Given the description of an element on the screen output the (x, y) to click on. 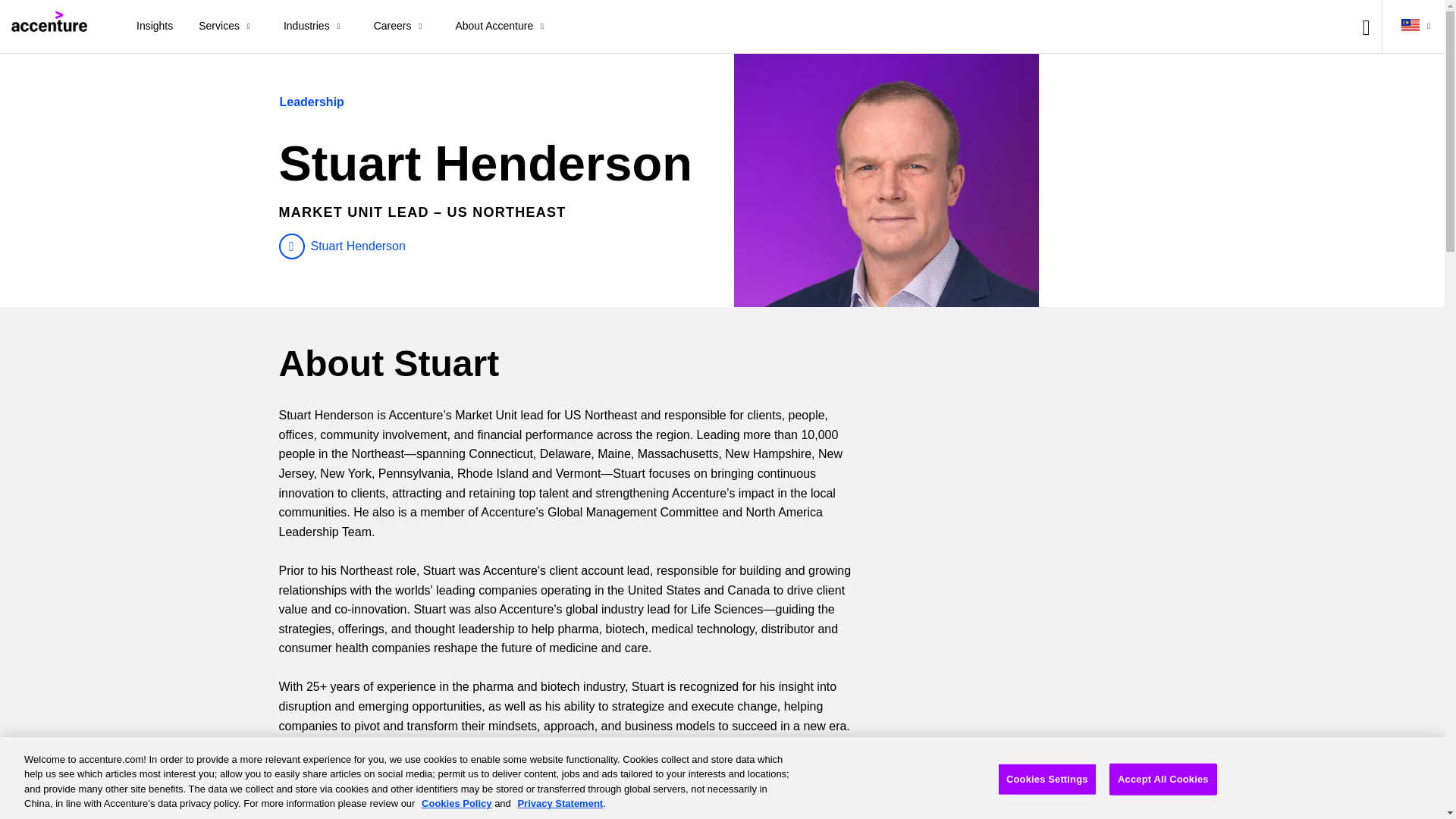
Insights (154, 26)
Industries (315, 26)
Services (228, 26)
